Given the description of an element on the screen output the (x, y) to click on. 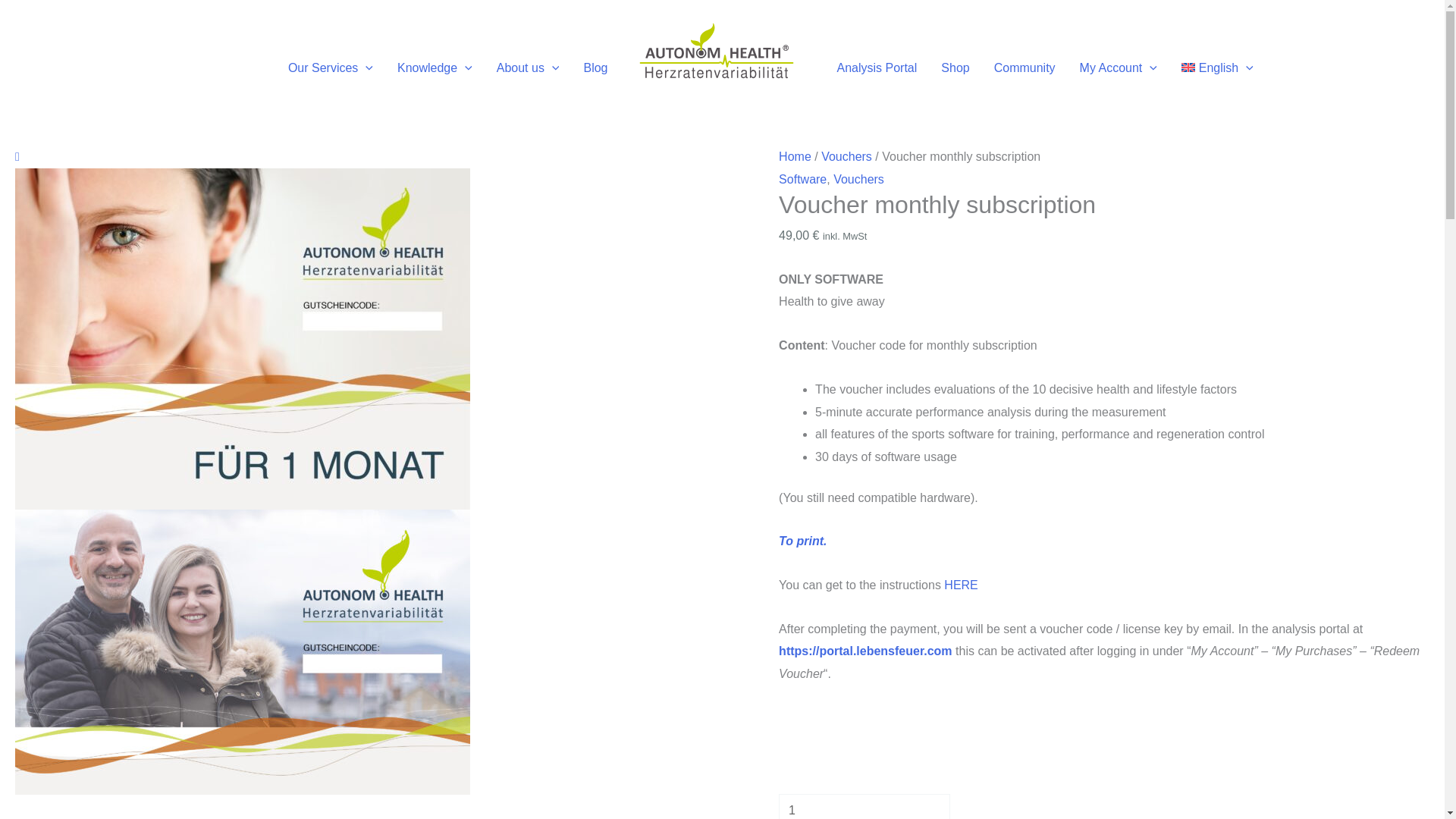
About us (528, 67)
1 (864, 806)
Blog (595, 67)
English (1217, 67)
Community (1024, 67)
English (1217, 67)
Knowledge (434, 67)
Analysis Portal (877, 67)
Shop (954, 67)
My Account (1118, 67)
Our Services (330, 67)
